Given the description of an element on the screen output the (x, y) to click on. 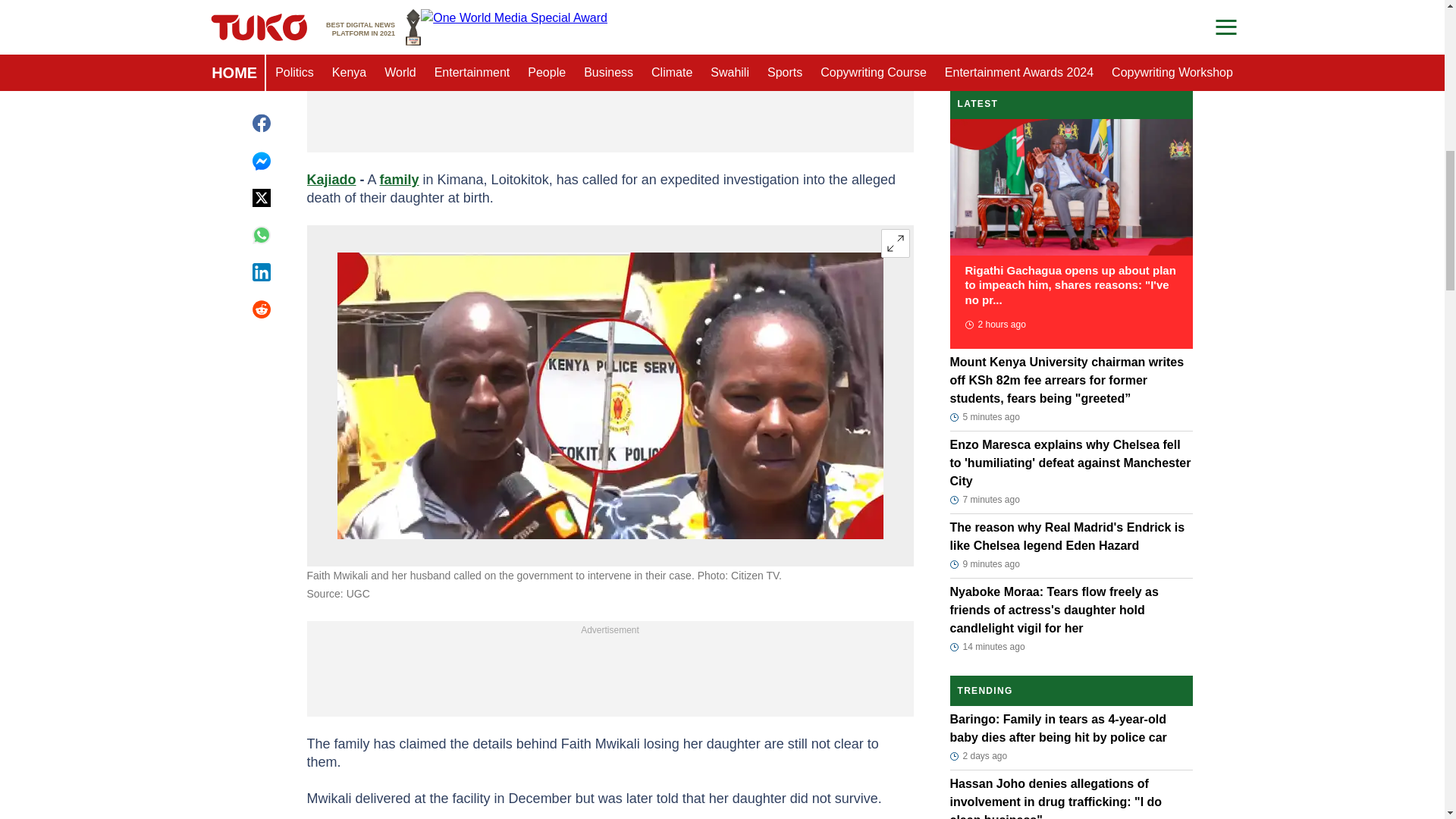
Expand image (895, 243)
